Given the description of an element on the screen output the (x, y) to click on. 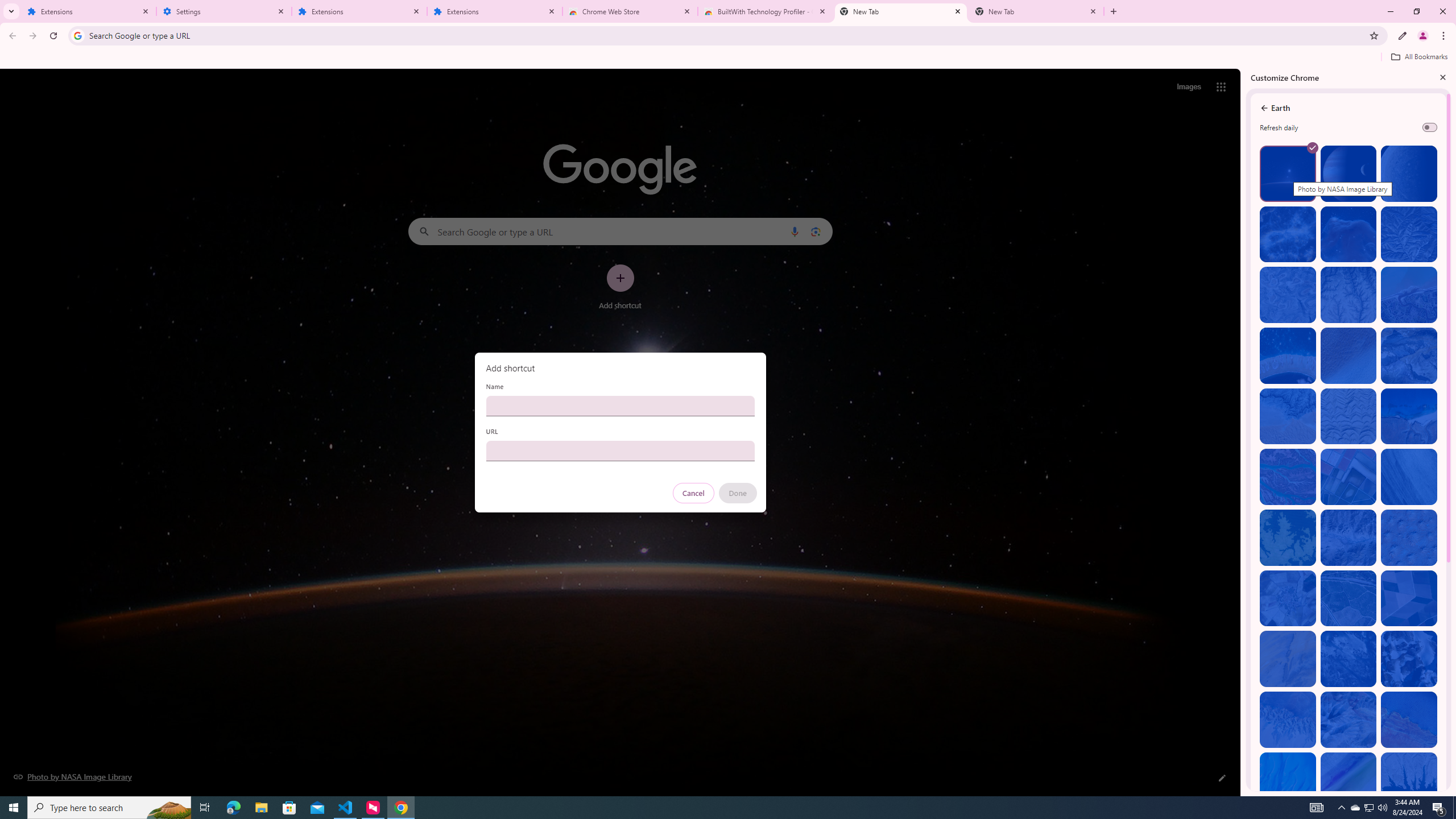
Settings (224, 11)
Ngari, China (1348, 719)
Granville, France (1348, 658)
BuiltWith Technology Profiler - Chrome Web Store (765, 11)
Bookmarks (728, 58)
Trarza, Mauritania (1348, 355)
Refresh daily (1429, 126)
Photo by NASA Image Library (1348, 233)
The Tuamotu and Gambier Islands, French Polynesia (1287, 355)
Name (620, 405)
Aigues-Mortes, France (1348, 476)
Al Jabal al Akhdar, Libya (1408, 416)
